Given the description of an element on the screen output the (x, y) to click on. 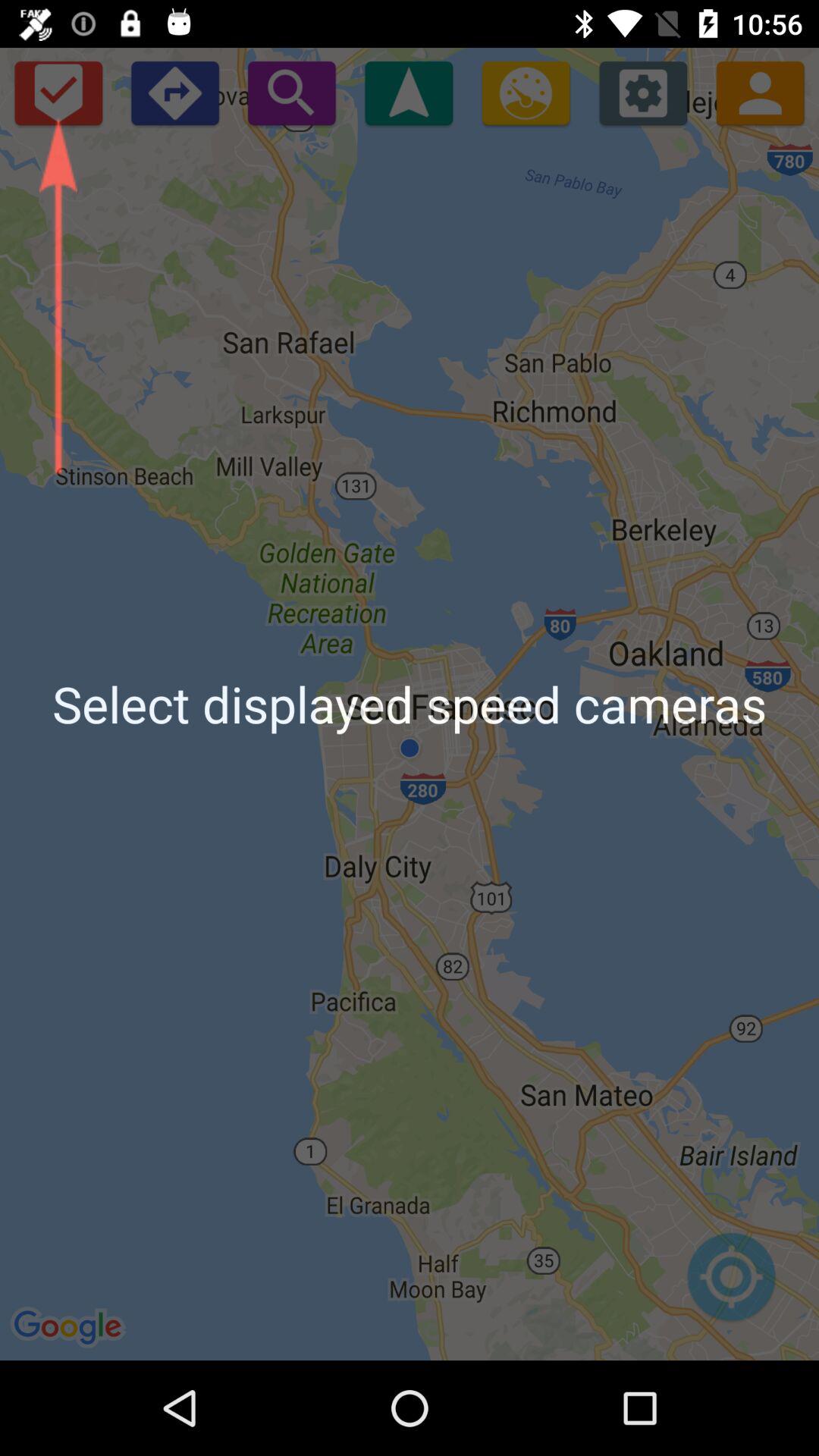
open app above select displayed speed app (174, 92)
